Given the description of an element on the screen output the (x, y) to click on. 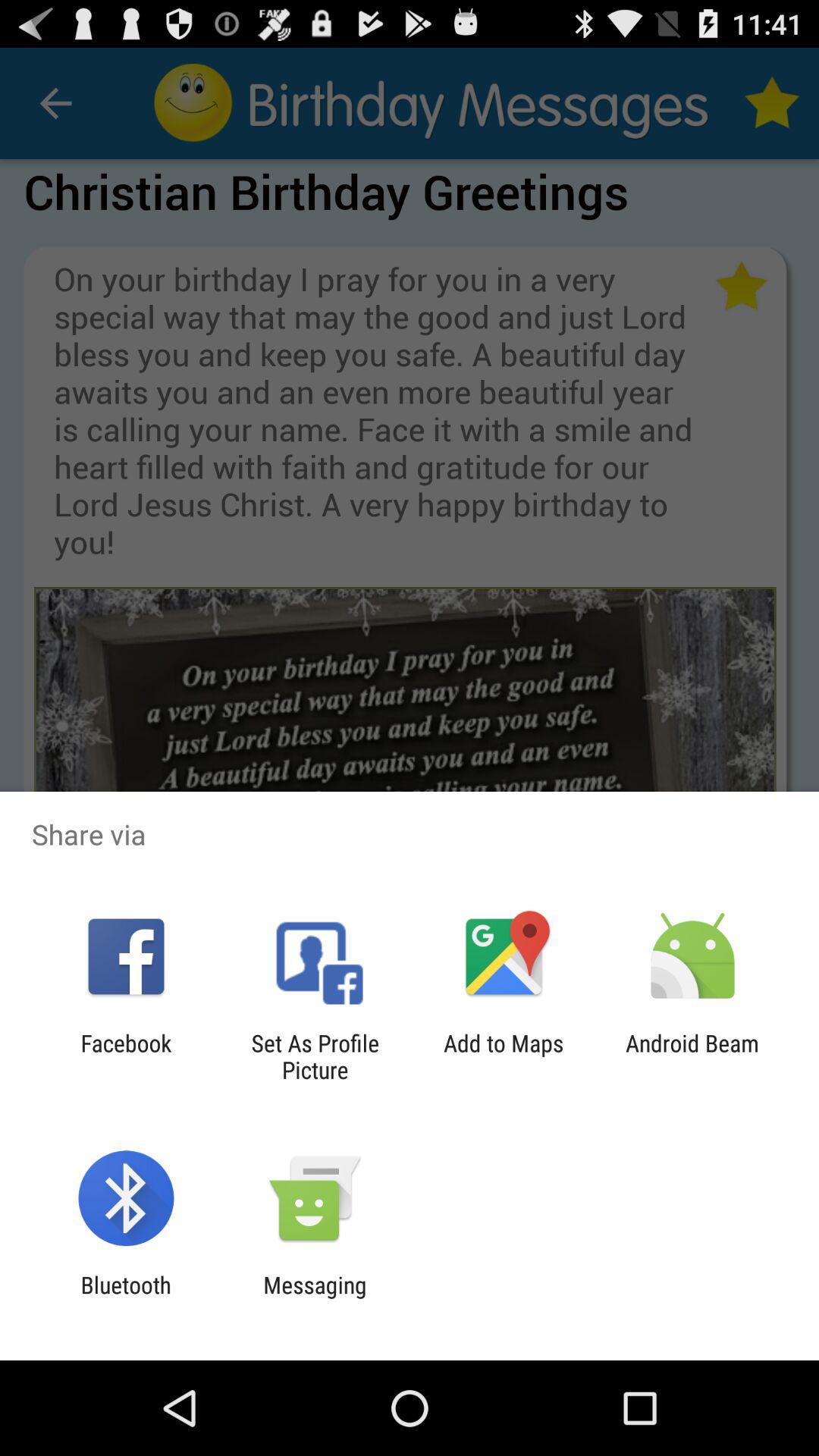
swipe to bluetooth (125, 1298)
